Given the description of an element on the screen output the (x, y) to click on. 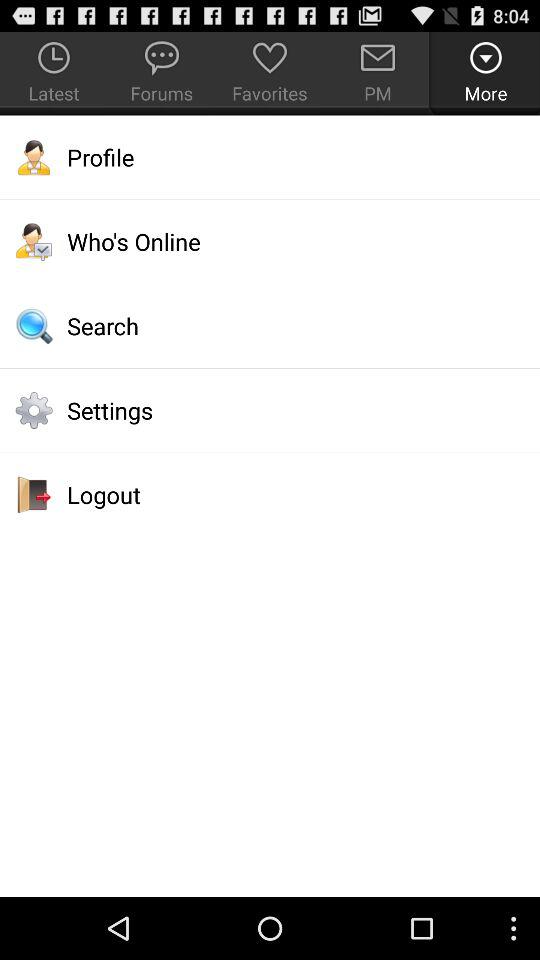
turn off the item above the   logout icon (270, 410)
